Given the description of an element on the screen output the (x, y) to click on. 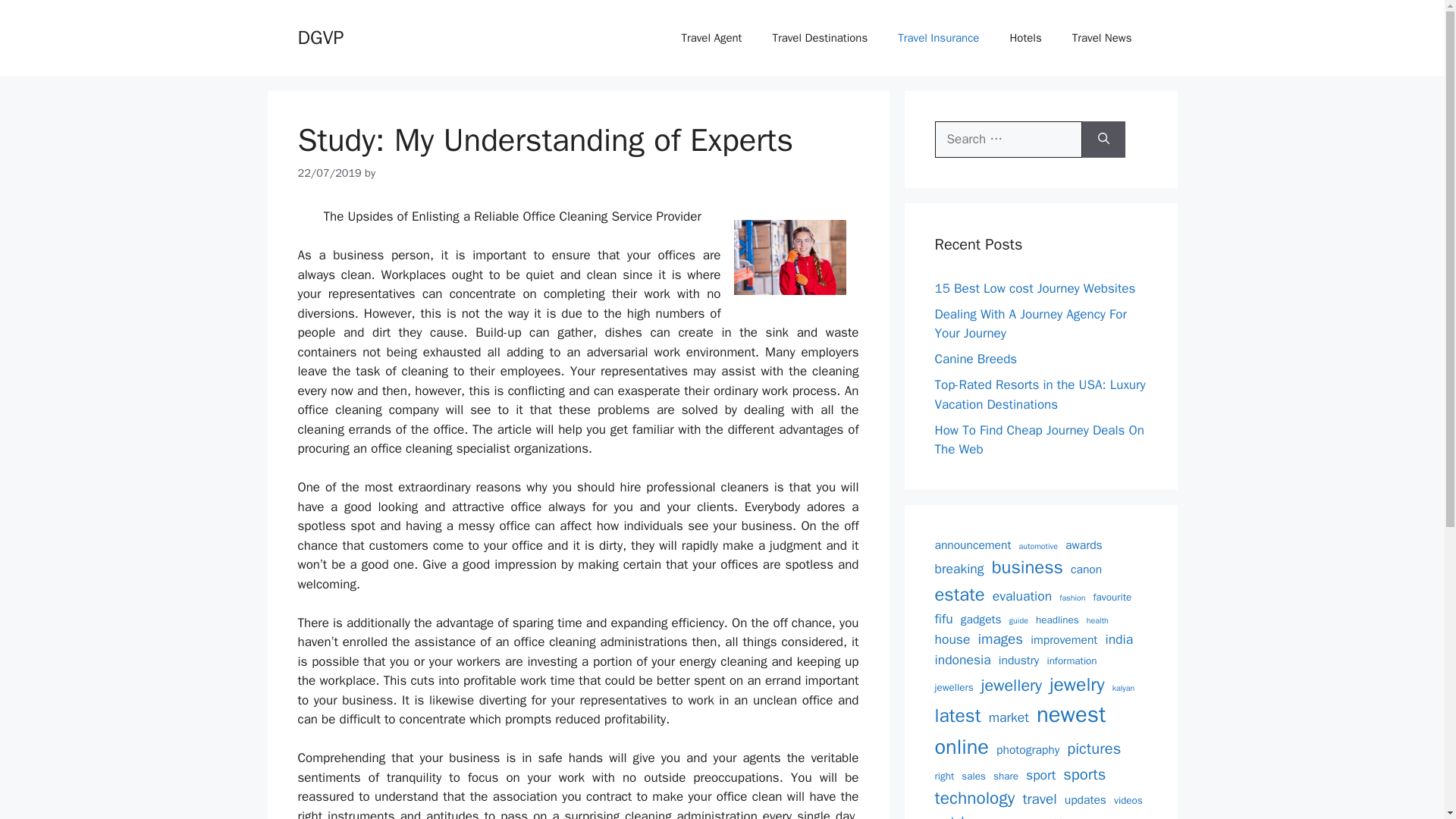
How To Find Cheap Journey Deals On The Web (1038, 439)
Travel Destinations (819, 37)
evaluation (1021, 596)
favourite (1112, 597)
improvement (1063, 640)
DGVP (320, 37)
Dealing With A Journey Agency For Your Journey (1029, 324)
Search for: (1007, 139)
guide (1018, 621)
headlines (1056, 620)
automotive (1038, 545)
estate (959, 595)
health (1097, 621)
fashion (1071, 598)
announcement (972, 545)
